Given the description of an element on the screen output the (x, y) to click on. 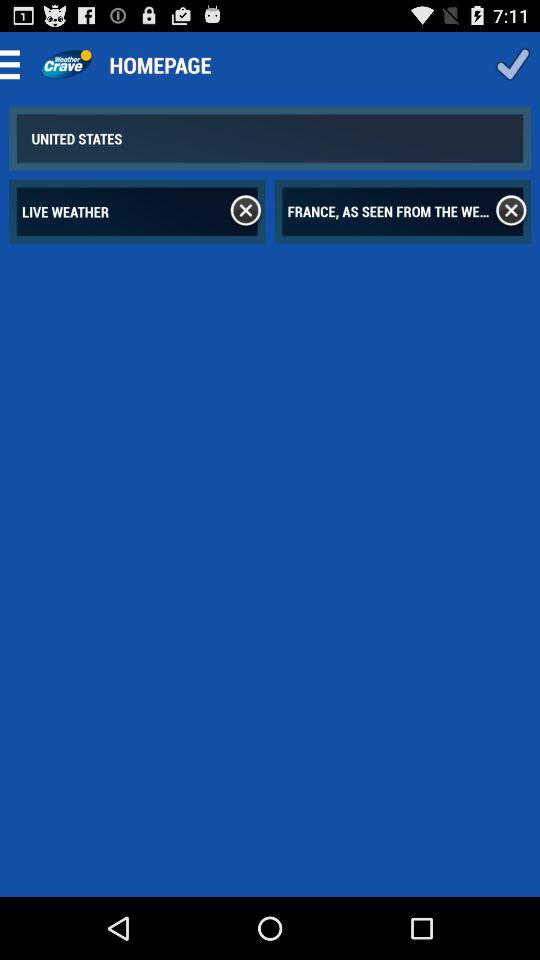
toggle menu (16, 63)
